Given the description of an element on the screen output the (x, y) to click on. 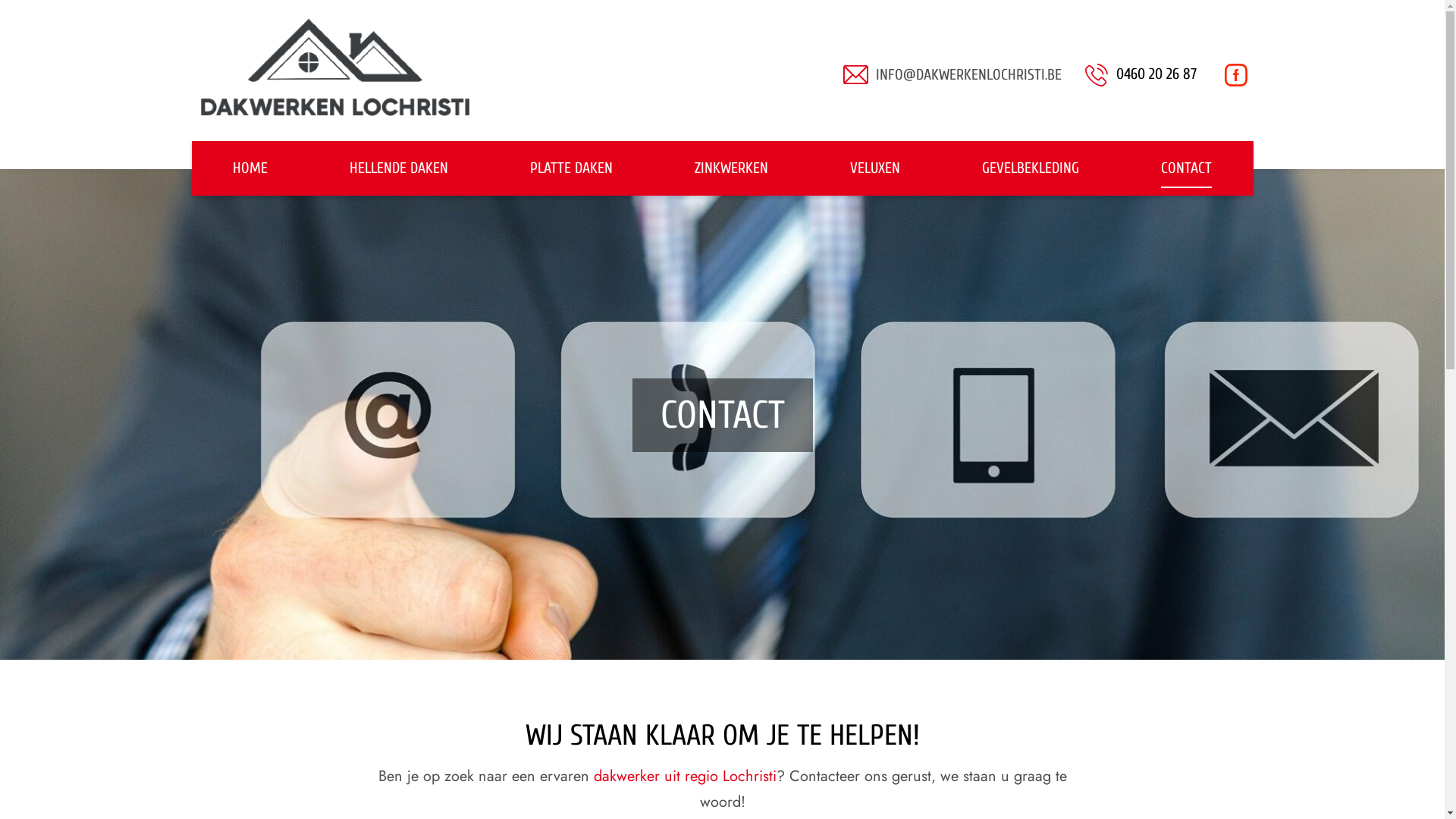
CONTACT Element type: text (1186, 168)
INFO@DAKWERKENLOCHRISTI.BE Element type: text (967, 74)
HOME Element type: text (249, 168)
PLATTE DAKEN Element type: text (571, 168)
GEVELBEKLEDING Element type: text (1030, 168)
dakwerker uit regio Lochristi Element type: text (684, 776)
0460 20 26 87 Element type: text (1140, 74)
ZINKWERKEN Element type: text (731, 168)
VELUXEN Element type: text (875, 168)
HELLENDE DAKEN Element type: text (398, 168)
